Given the description of an element on the screen output the (x, y) to click on. 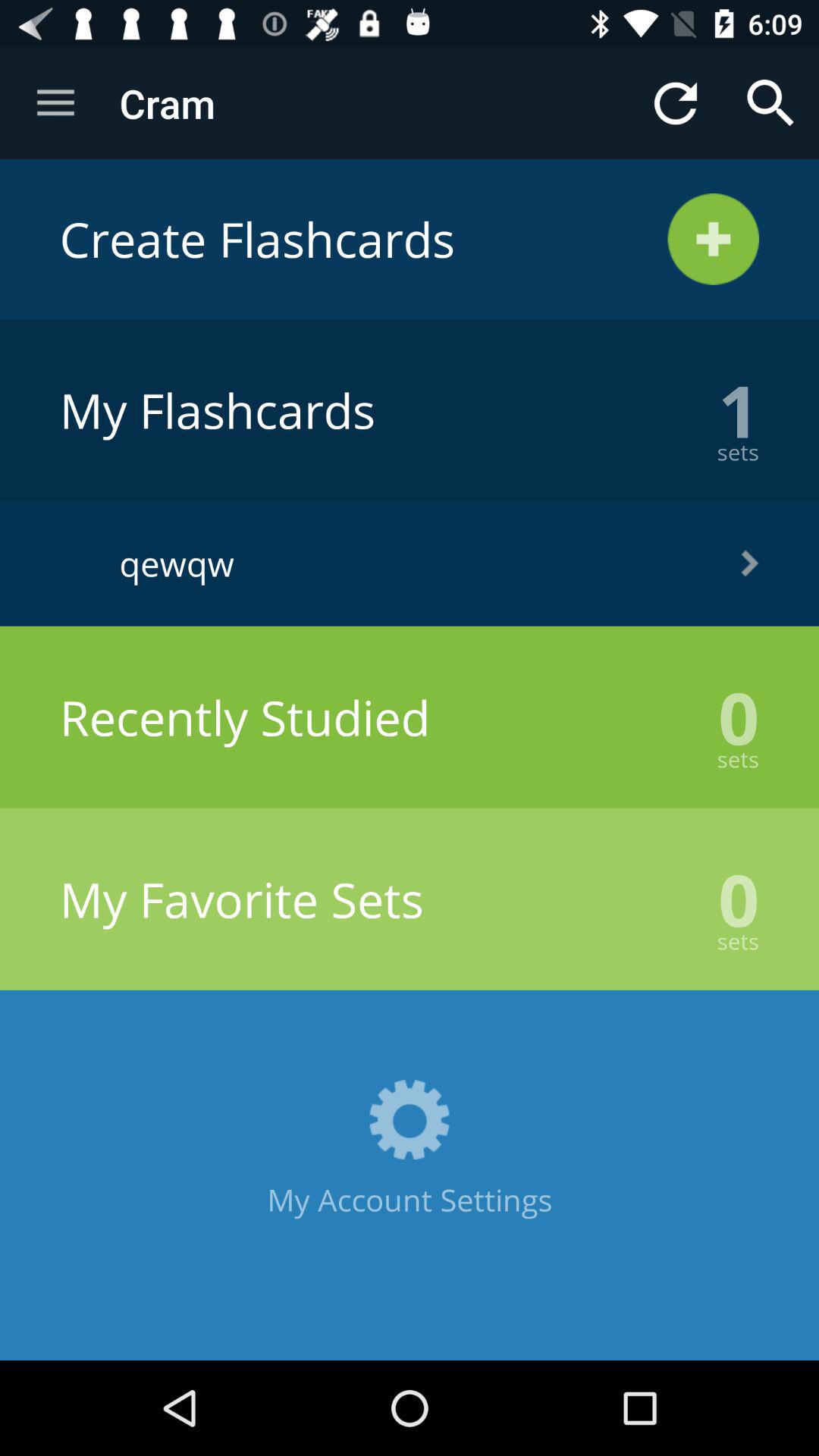
select the app next to the cram icon (55, 103)
